Given the description of an element on the screen output the (x, y) to click on. 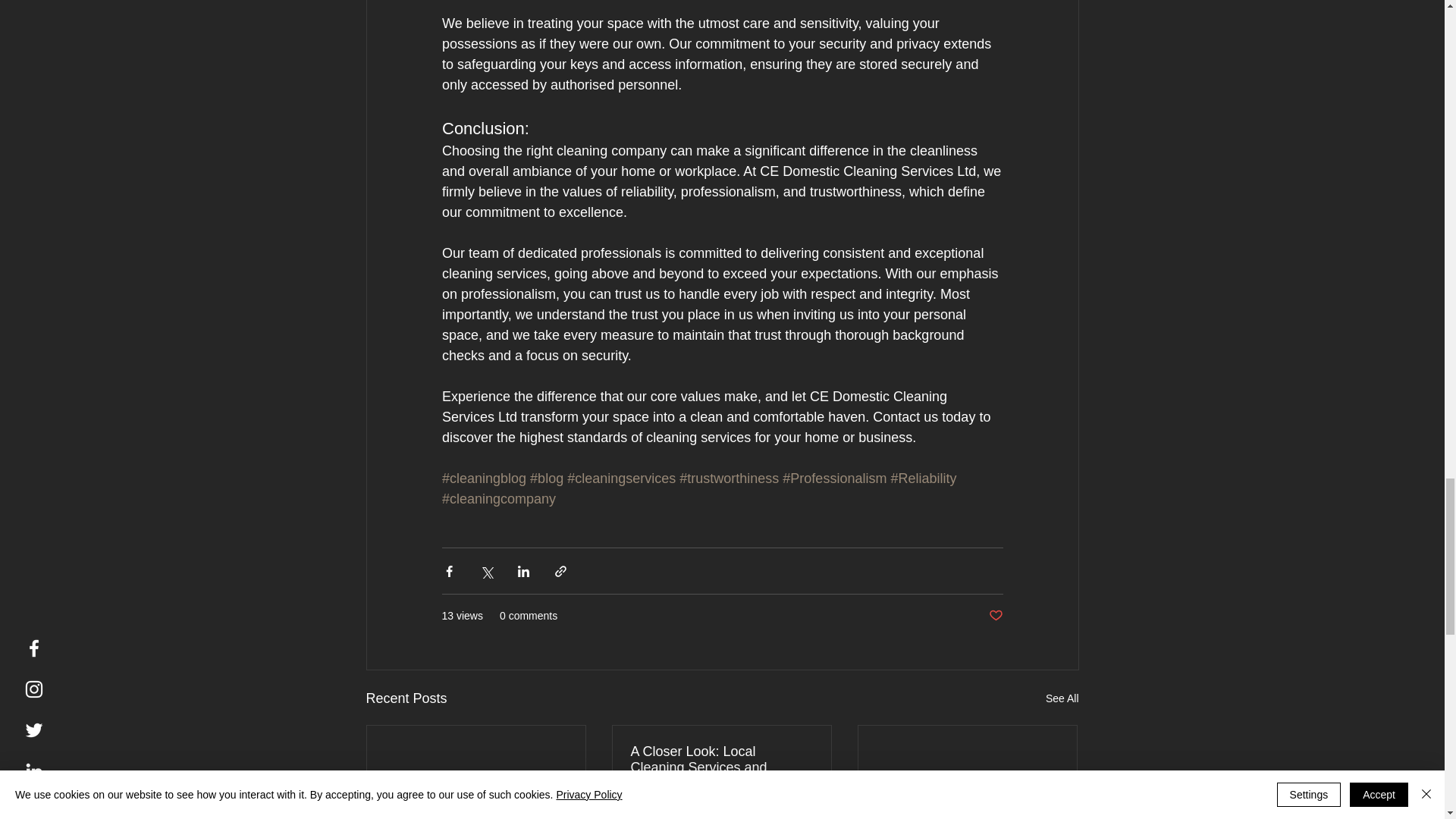
Post not marked as liked (995, 616)
See All (1061, 698)
